Given the description of an element on the screen output the (x, y) to click on. 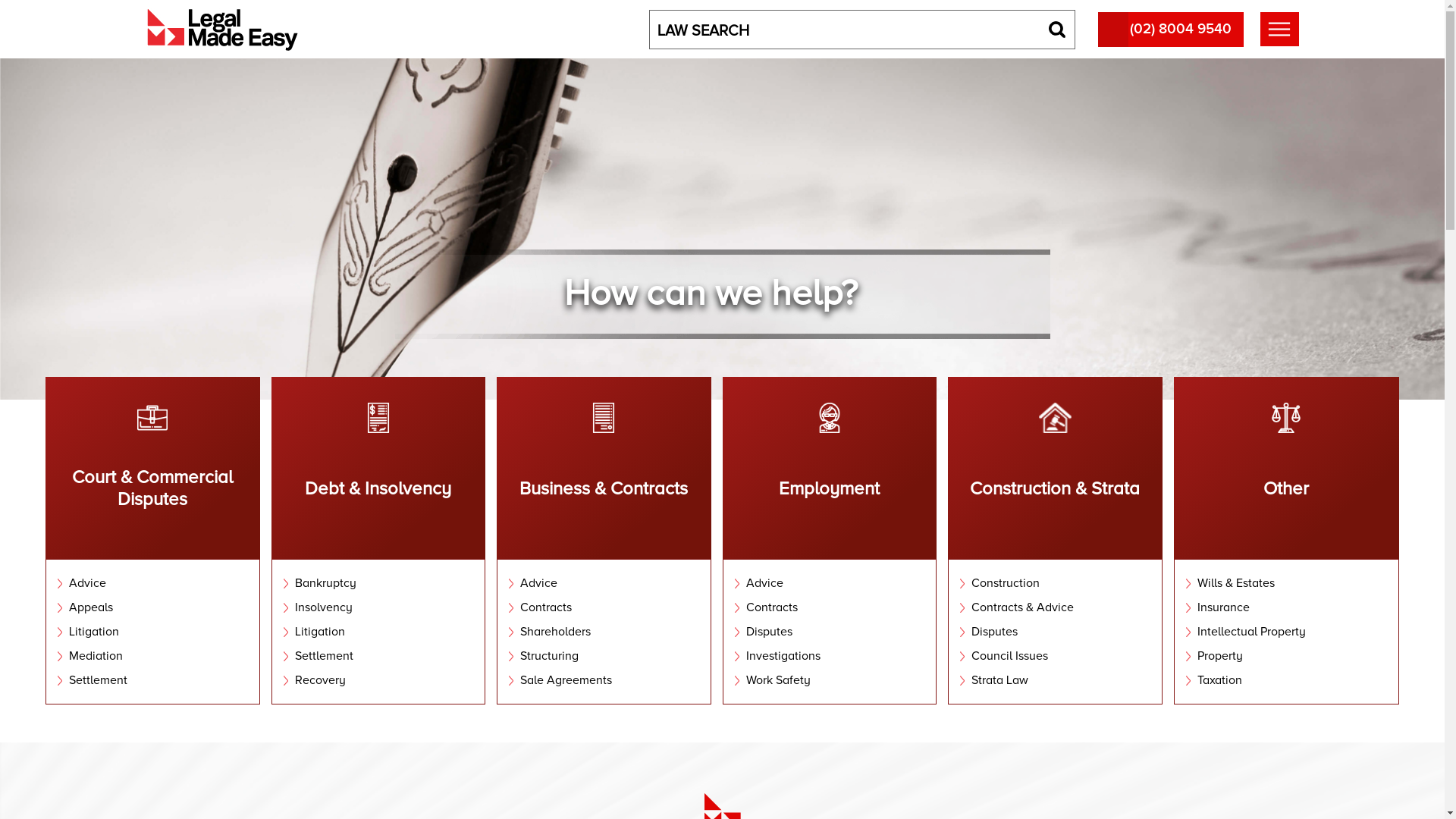
(02) 8004 9540 Element type: text (1170, 29)
